Given the description of an element on the screen output the (x, y) to click on. 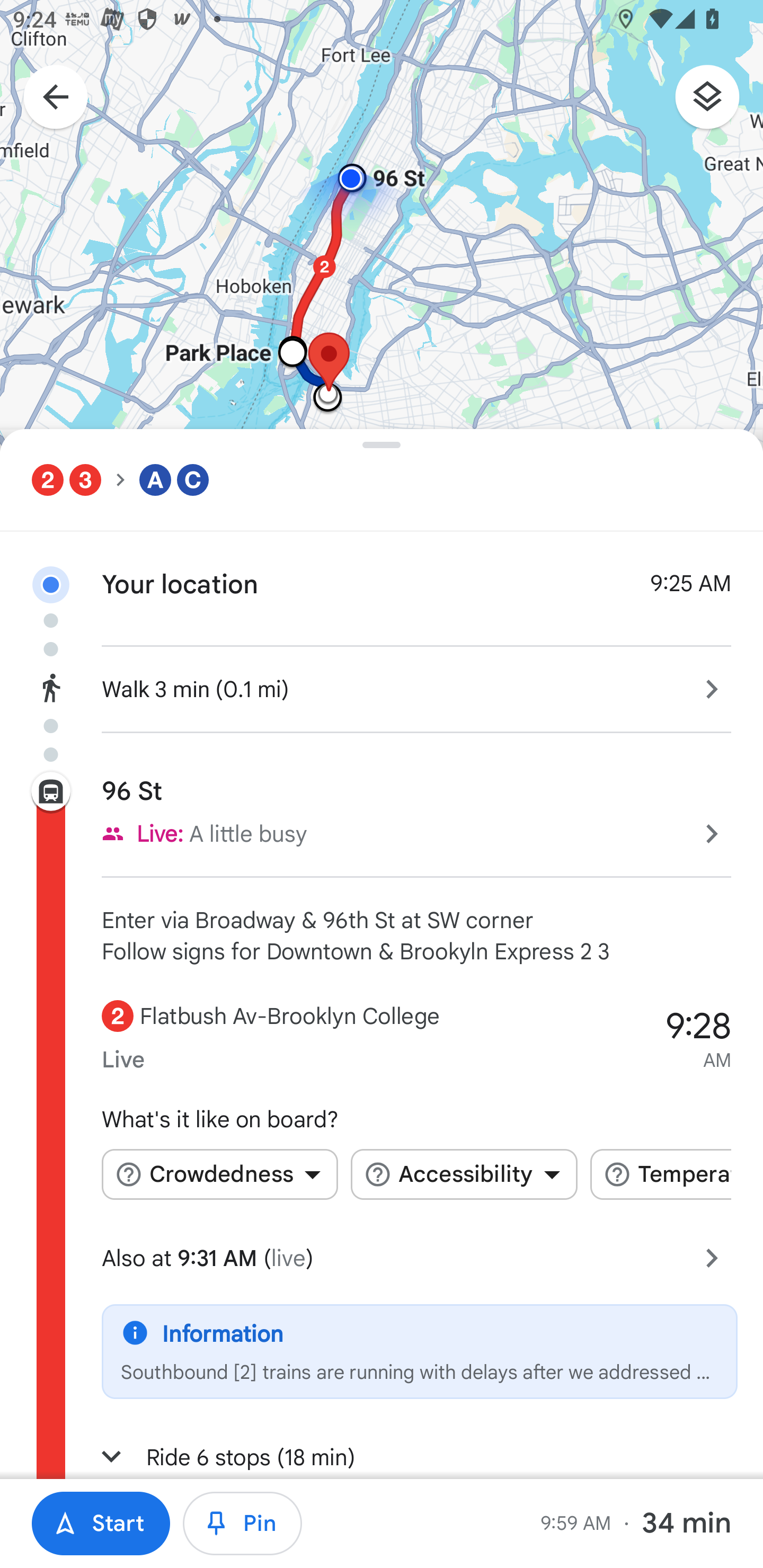
Back (46, 98)
Layers (716, 103)
Your location Your location 9:25 AM (381, 568)
Walk 3 min (0.1 mi) Zoom map (381, 686)
Crowdedness Crowdedness Crowdedness (219, 1174)
Accessibility Accessibility Accessibility (463, 1174)
Temperature Temperature Temperature (660, 1174)
Pin trip Pin Pin trip (242, 1522)
